Given the description of an element on the screen output the (x, y) to click on. 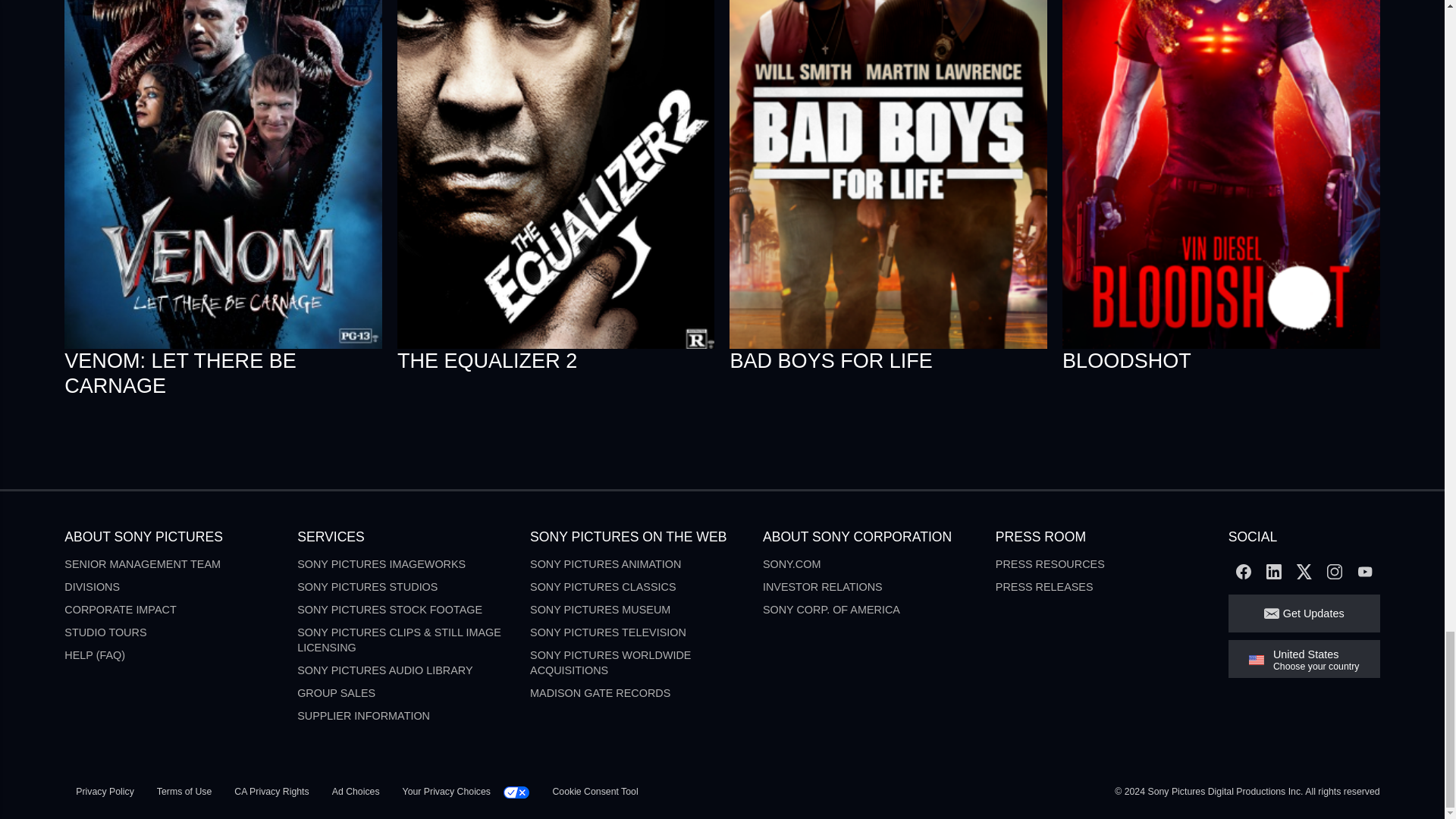
Madison Gate Records (599, 693)
